Given the description of an element on the screen output the (x, y) to click on. 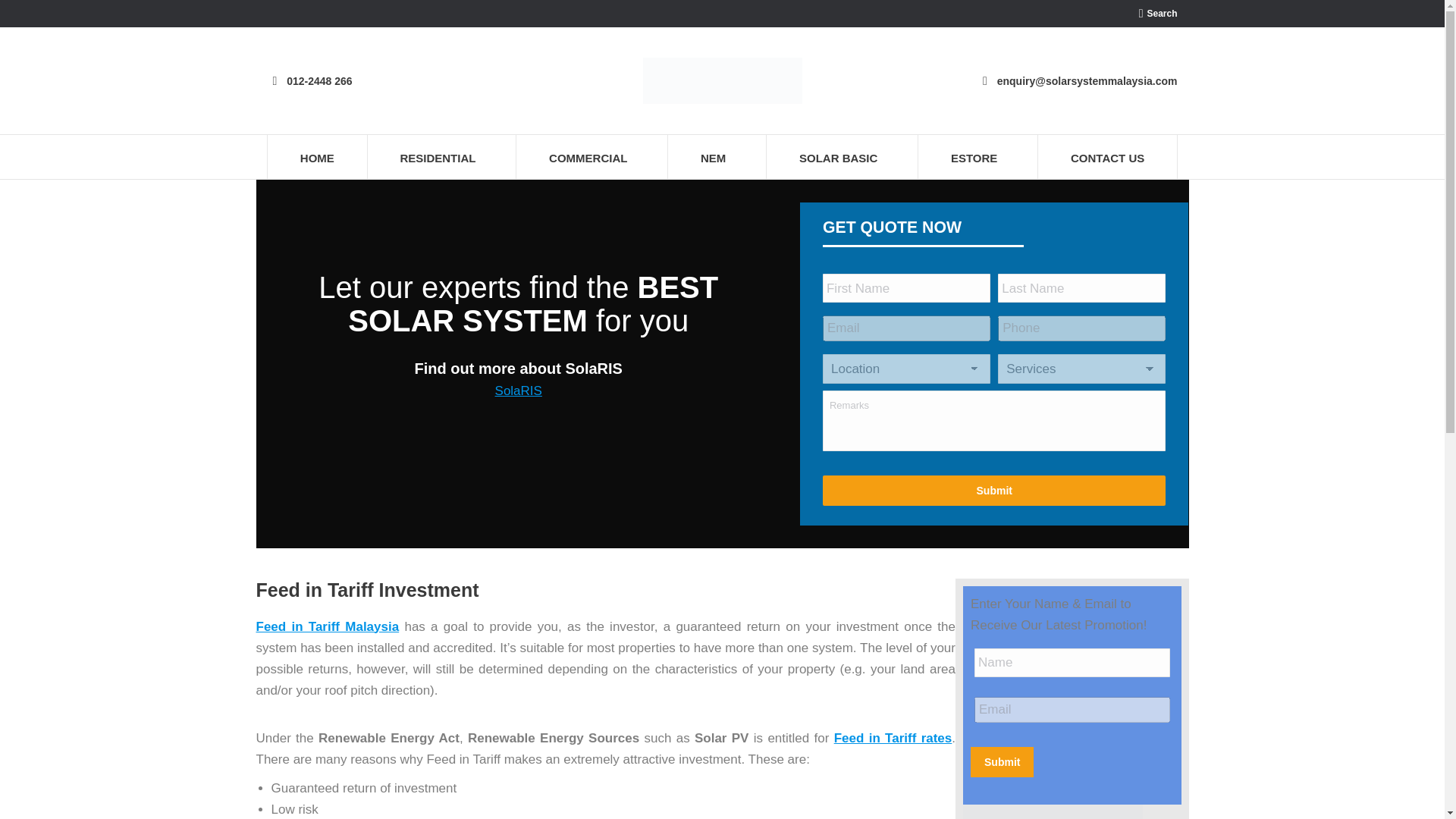
Submit (994, 490)
Search (1157, 13)
NEM Rakyat (518, 391)
Go! (24, 16)
Submit (1002, 761)
HOME (316, 157)
NEM (717, 157)
RESIDENTIAL (441, 157)
COMMERCIAL (592, 157)
SOLAR BASIC (842, 157)
